Given the description of an element on the screen output the (x, y) to click on. 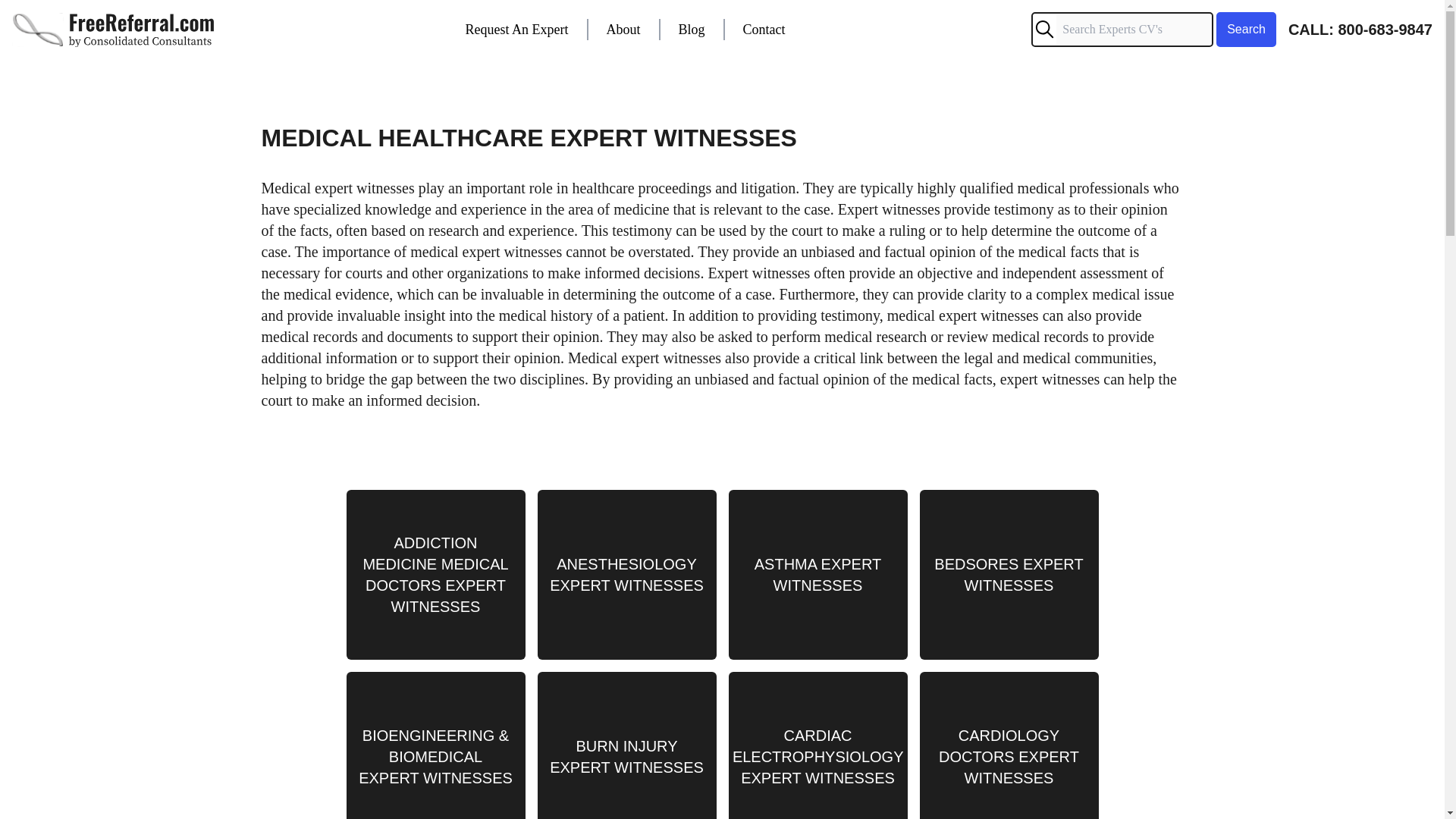
CARDIOLOGY DOCTORS EXPERT WITNESSES (1007, 745)
BEDSORES EXPERT WITNESSES (1007, 574)
BURN INJURY EXPERT WITNESSES (626, 745)
Blog (691, 29)
Request An Expert (517, 29)
Contact (764, 29)
About (623, 29)
ANESTHESIOLOGY EXPERT WITNESSES (626, 574)
Search (1244, 29)
Dark Free Referral Logo (115, 29)
